Given the description of an element on the screen output the (x, y) to click on. 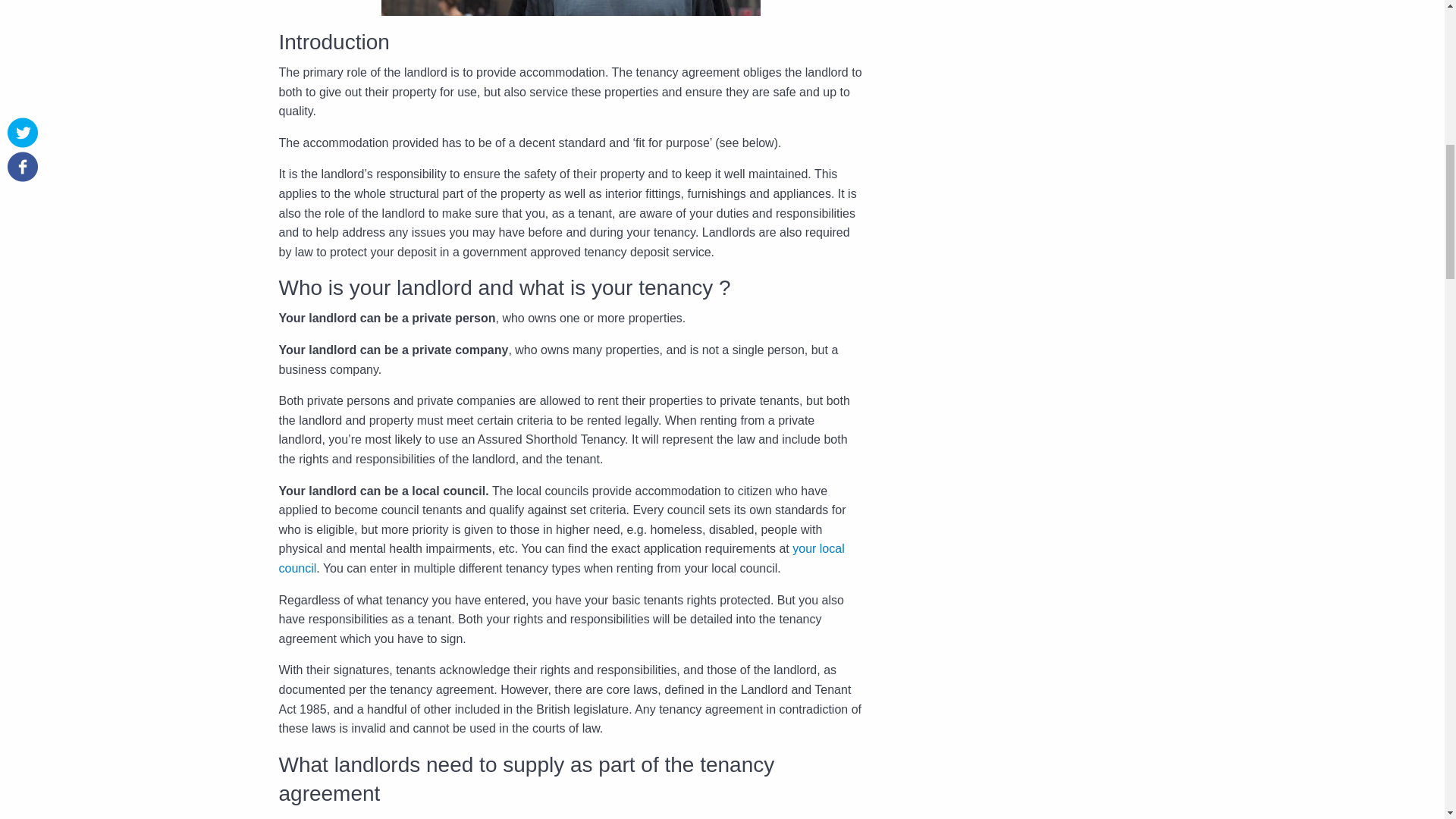
the role of the landlord ttv (570, 7)
